Given the description of an element on the screen output the (x, y) to click on. 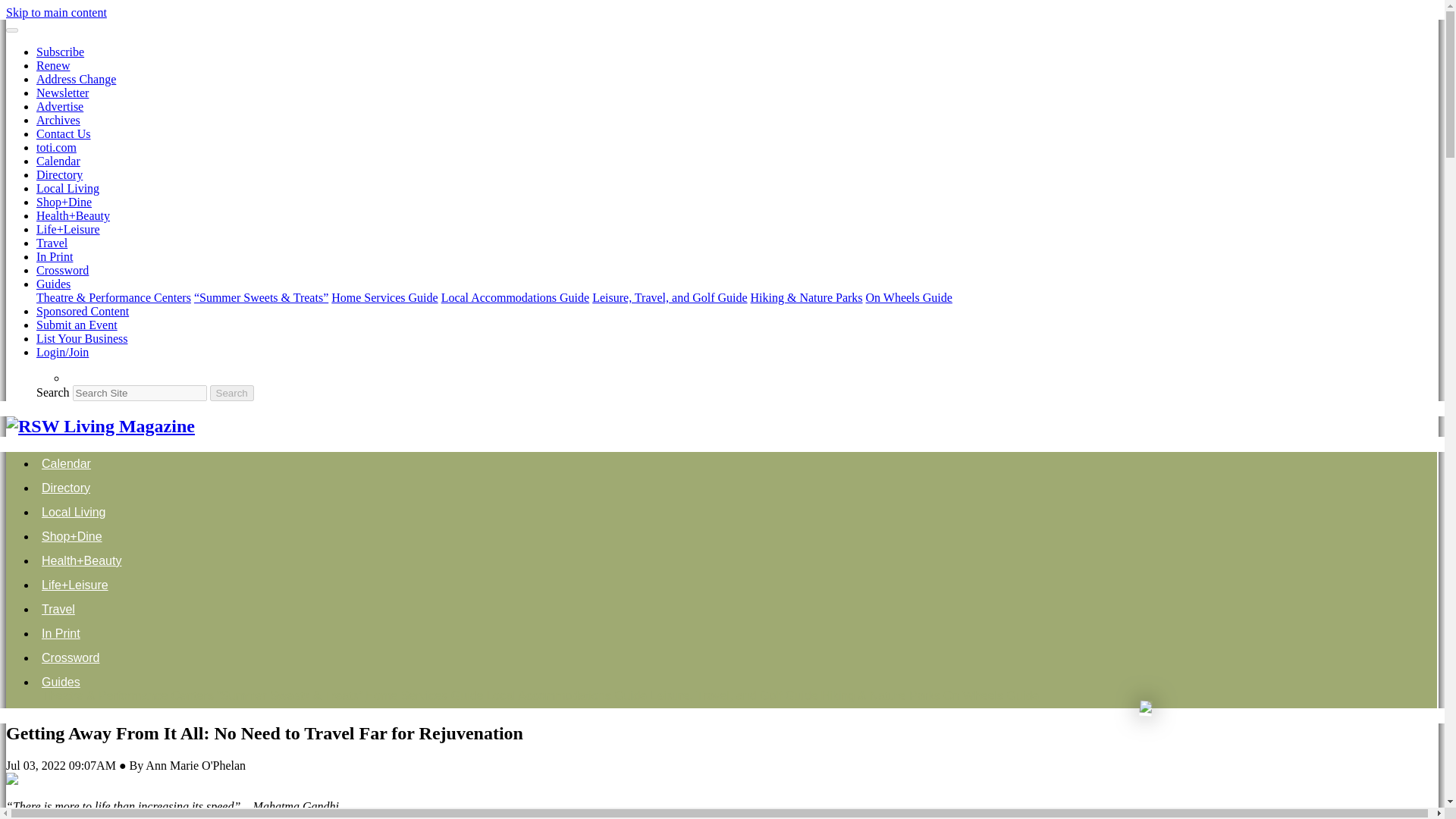
Calendar (66, 463)
Local Living (67, 187)
Subscribe (60, 51)
List Your Business (82, 338)
Contact Us (63, 133)
Calendar (58, 160)
Guides (52, 283)
Submit an Event (76, 324)
Search (231, 392)
Local Living (74, 512)
